Given the description of an element on the screen output the (x, y) to click on. 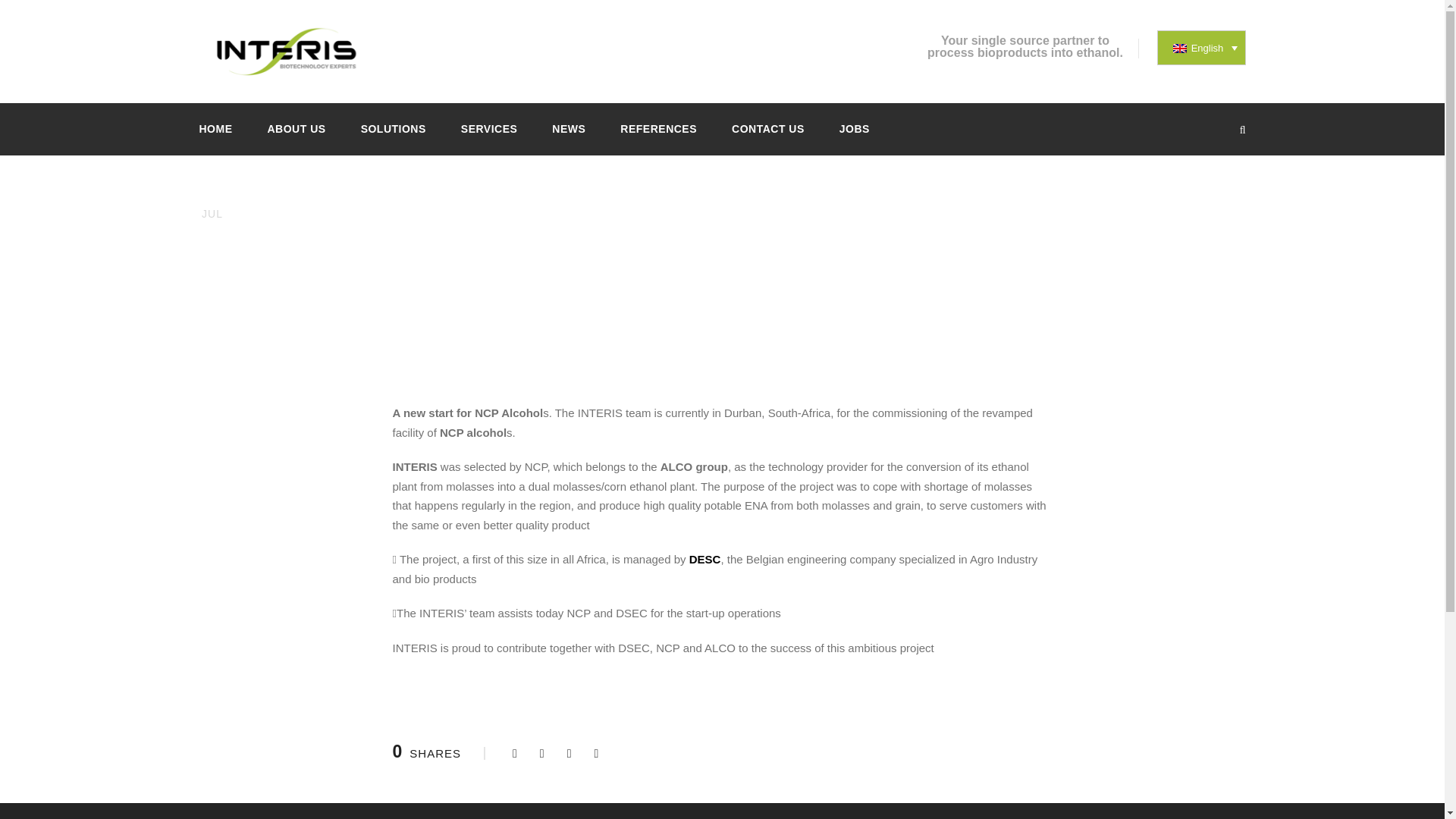
HOME (214, 137)
English (1201, 47)
SOLUTIONS (393, 137)
logointeris (285, 49)
ABOUT US (295, 137)
